Given the description of an element on the screen output the (x, y) to click on. 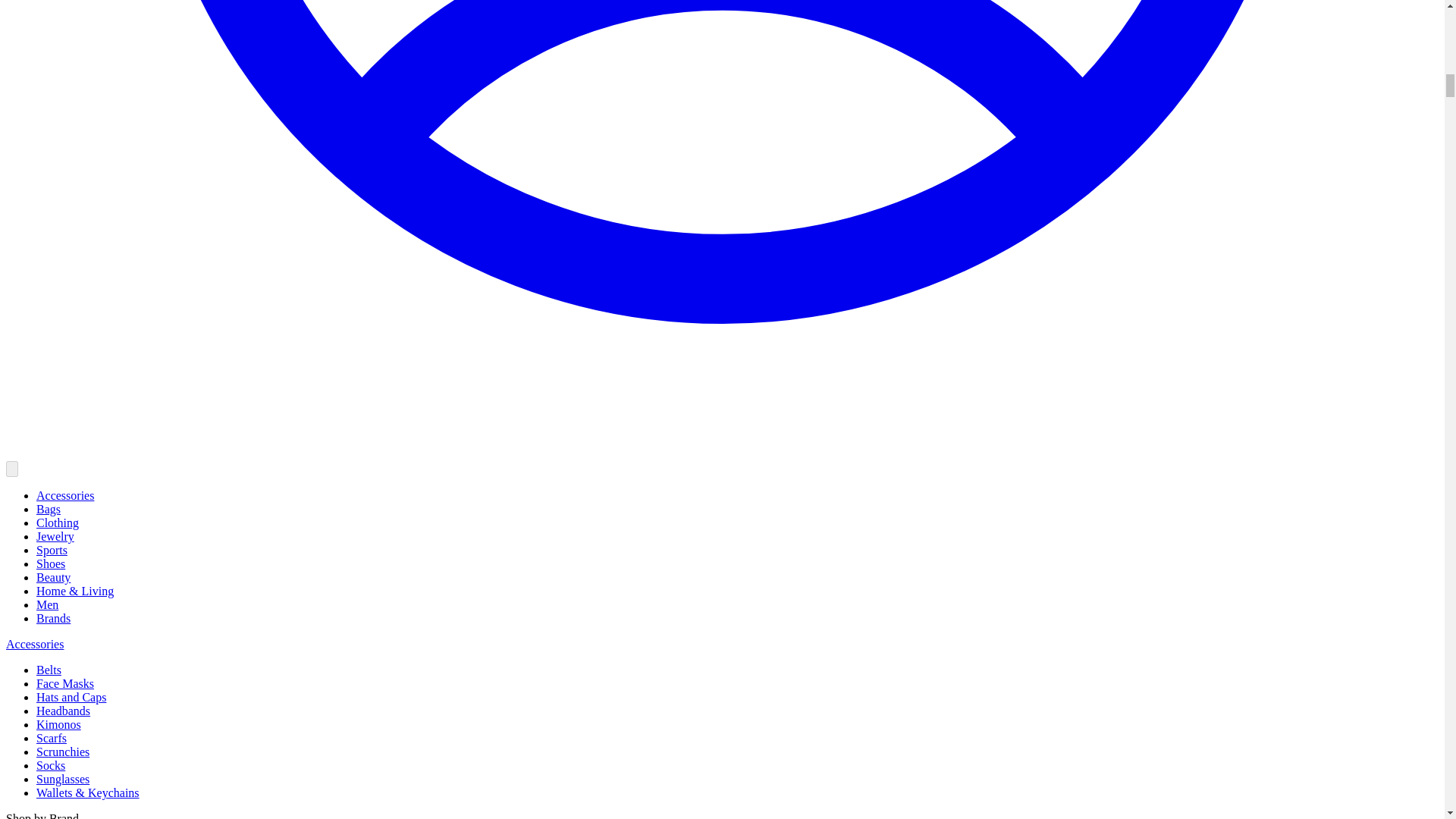
Hats and Caps (71, 697)
Belts (48, 669)
Sports (51, 549)
Bags (48, 508)
Accessories (65, 495)
Jewelry (55, 535)
Men (47, 604)
Beauty (52, 576)
Scrunchies (62, 751)
Socks (50, 765)
Scarfs (51, 738)
Clothing (57, 522)
Sunglasses (62, 779)
Headbands (63, 710)
Shoes (50, 563)
